Given the description of an element on the screen output the (x, y) to click on. 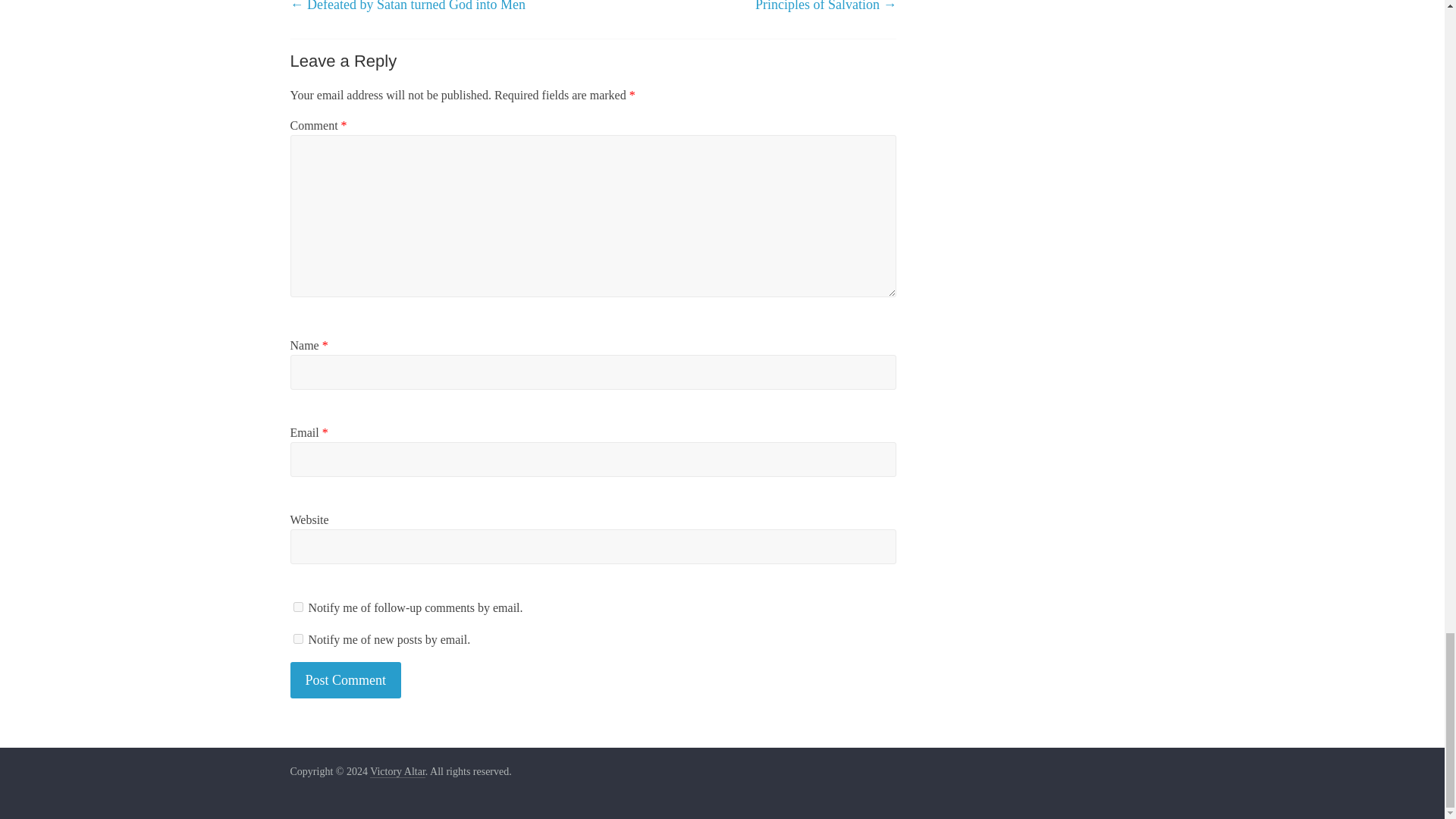
Post Comment (345, 680)
Post Comment (345, 680)
subscribe (297, 638)
Victory Altar (397, 771)
subscribe (297, 606)
